Given the description of an element on the screen output the (x, y) to click on. 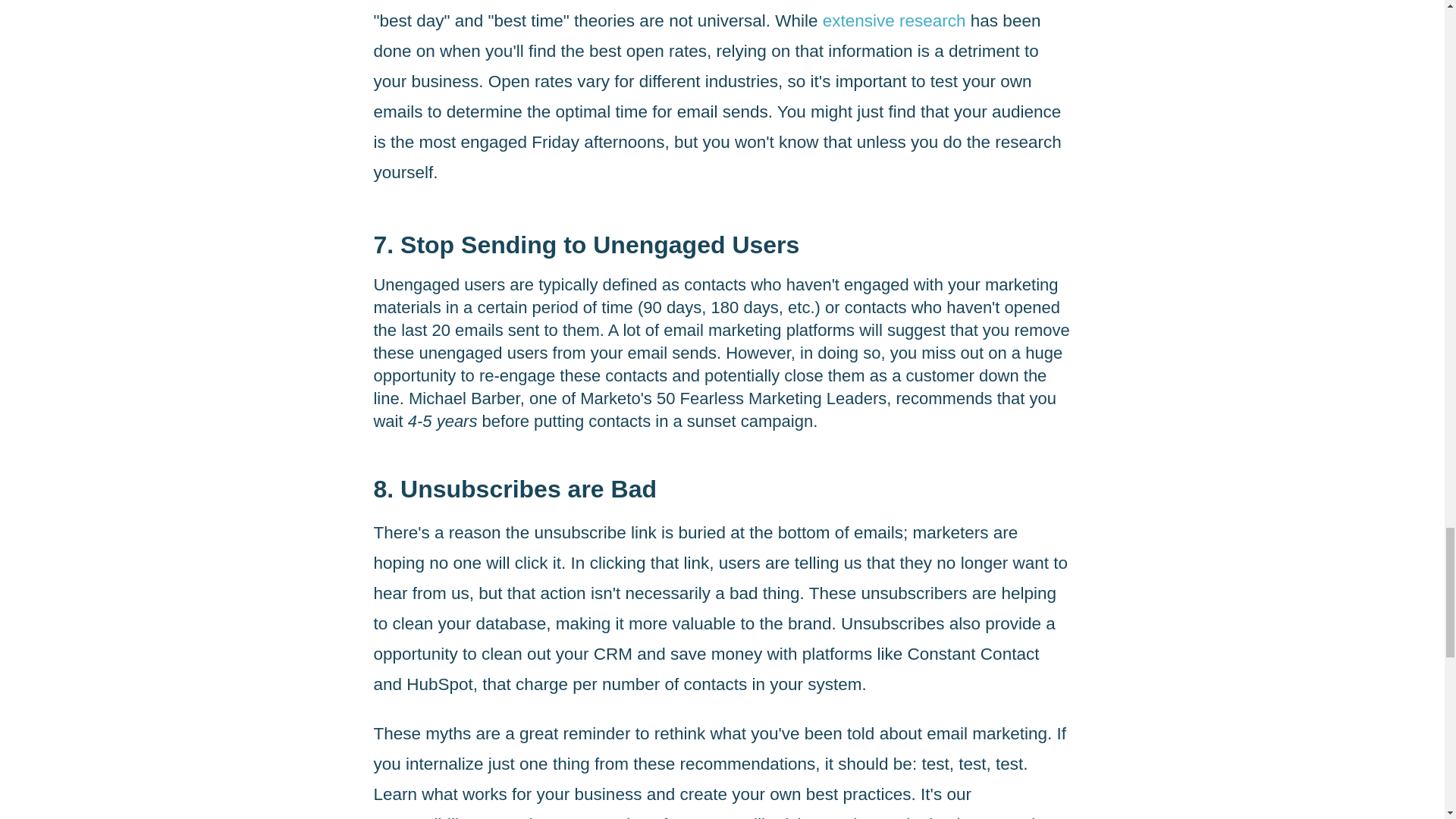
extensive research (894, 20)
